Given the description of an element on the screen output the (x, y) to click on. 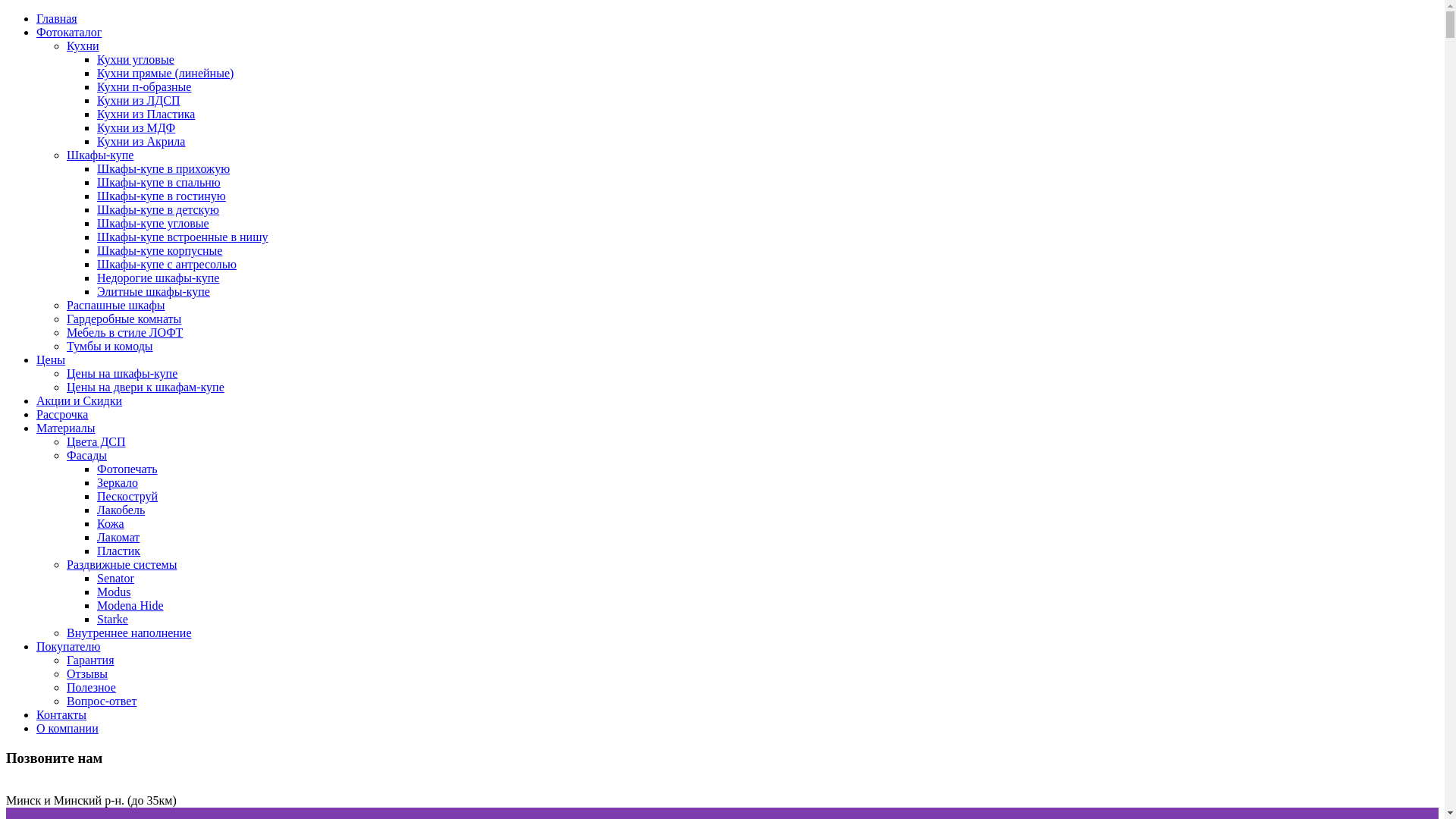
Senator Element type: text (115, 577)
Modena Hide Element type: text (130, 605)
Starke Element type: text (112, 618)
Modus Element type: text (113, 591)
